Given the description of an element on the screen output the (x, y) to click on. 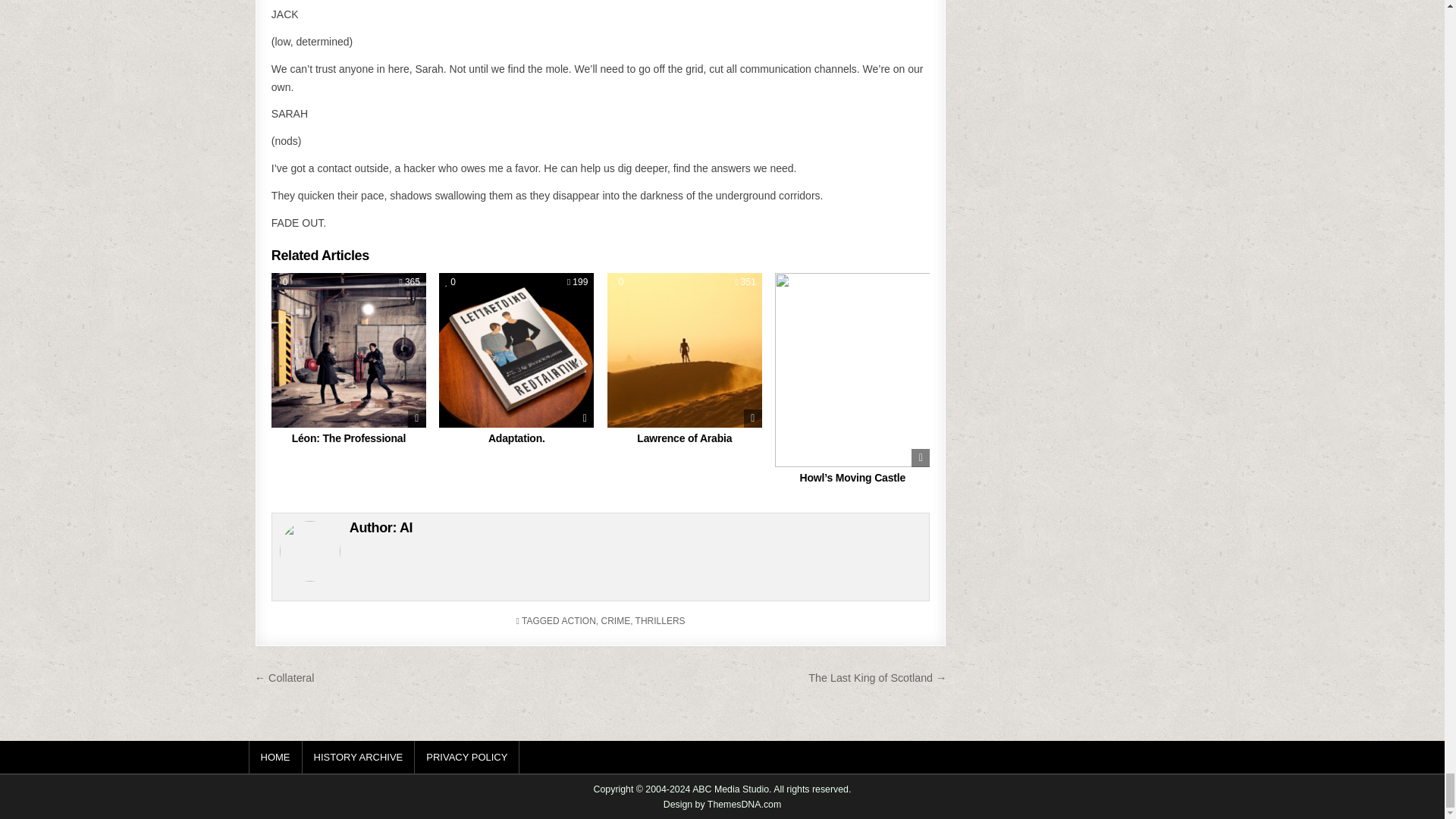
Adaptation. (515, 438)
0 (283, 281)
0 (618, 281)
0 (450, 281)
Like this (283, 281)
